Given the description of an element on the screen output the (x, y) to click on. 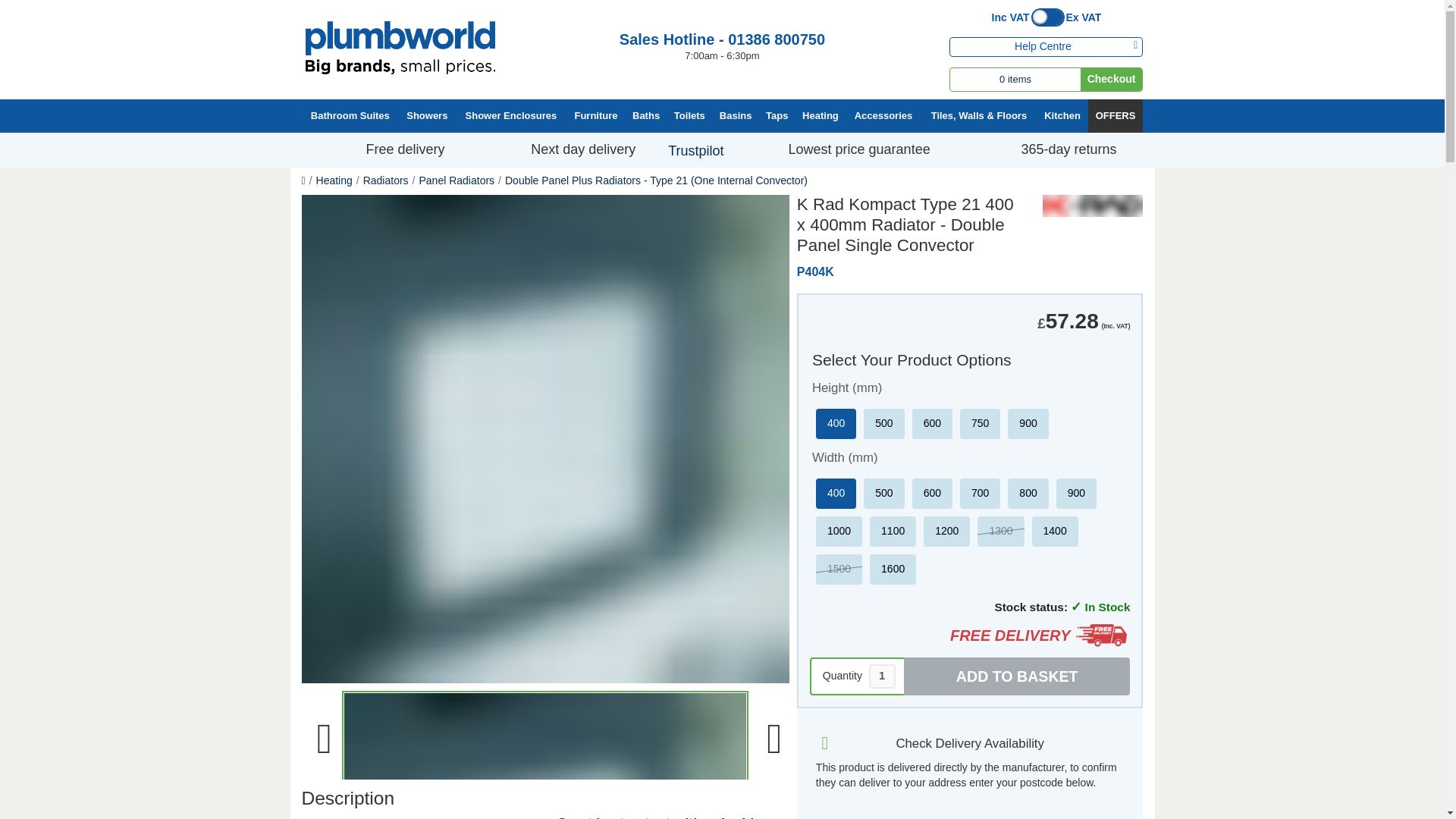
1 (882, 676)
Plumbworld (399, 47)
Bathroom Suites (349, 116)
0 items (1015, 79)
Showers (426, 116)
Sales Hotline - 01386 800750 (721, 39)
Checkout (1111, 78)
